Given the description of an element on the screen output the (x, y) to click on. 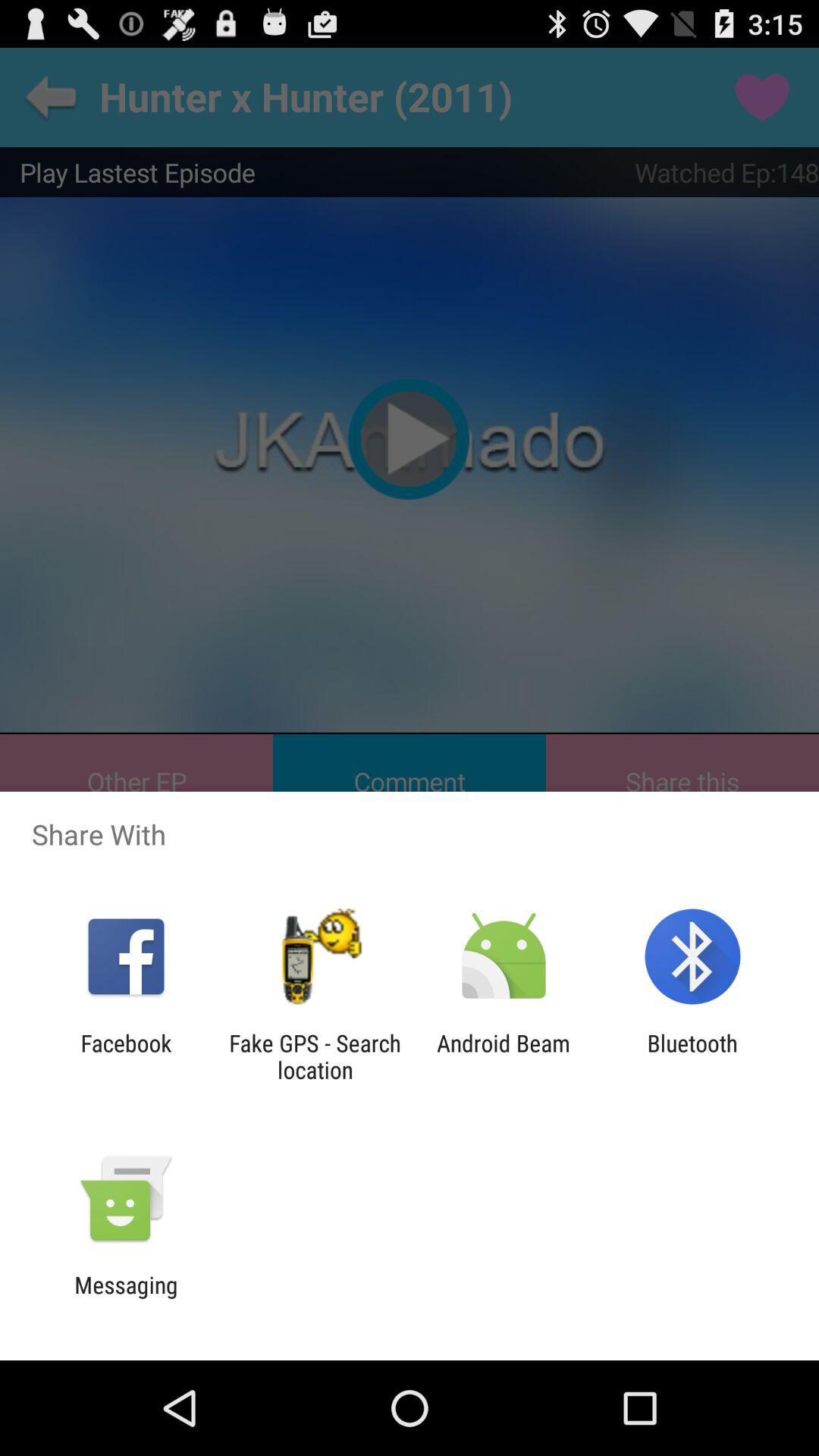
tap item next to the fake gps search icon (125, 1056)
